Given the description of an element on the screen output the (x, y) to click on. 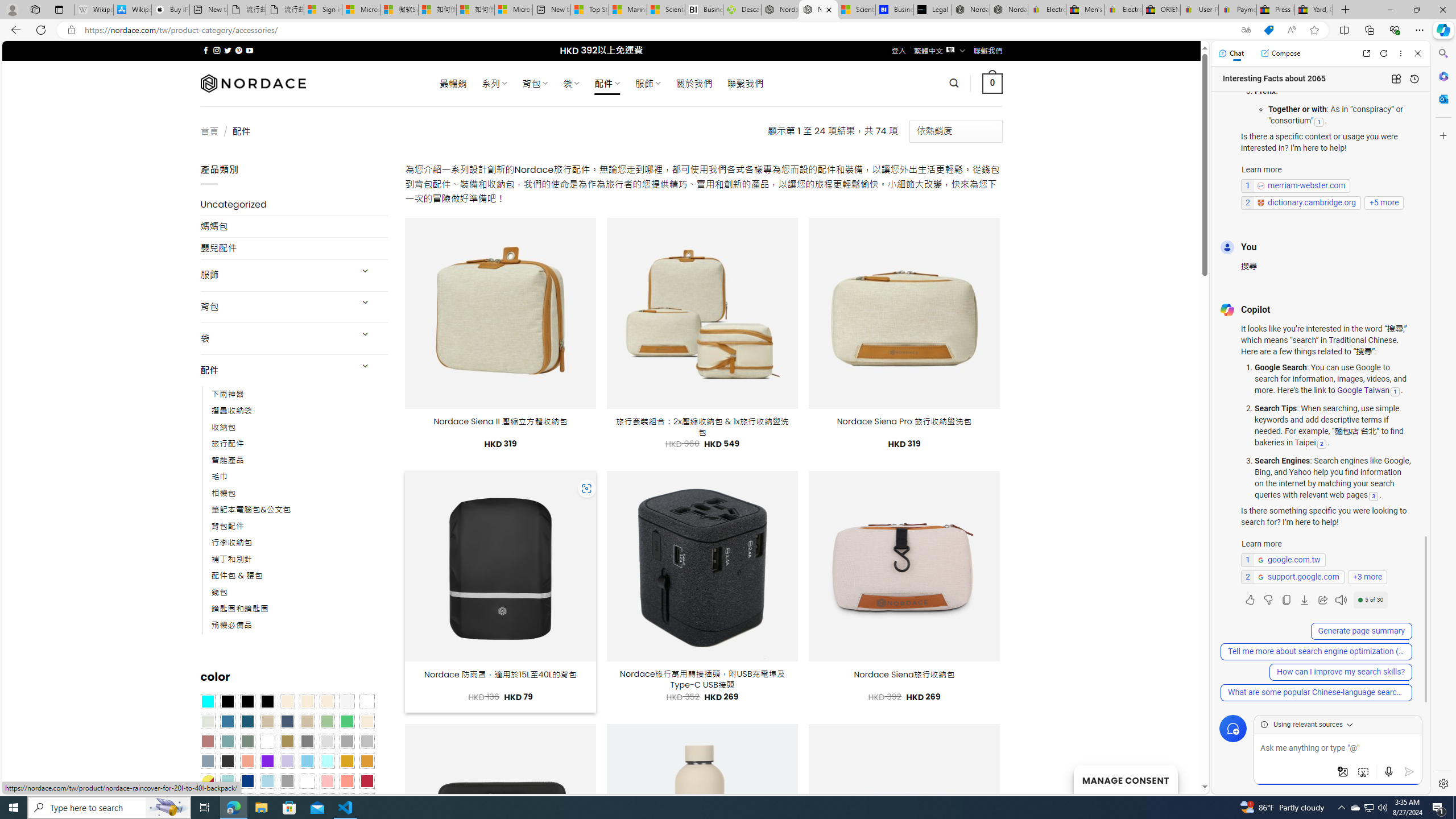
Follow on Instagram (216, 50)
Yard, Garden & Outdoor Living (1314, 9)
Nordace (252, 83)
Follow on Twitter (227, 50)
Payments Terms of Use | eBay.com (1237, 9)
